Given the description of an element on the screen output the (x, y) to click on. 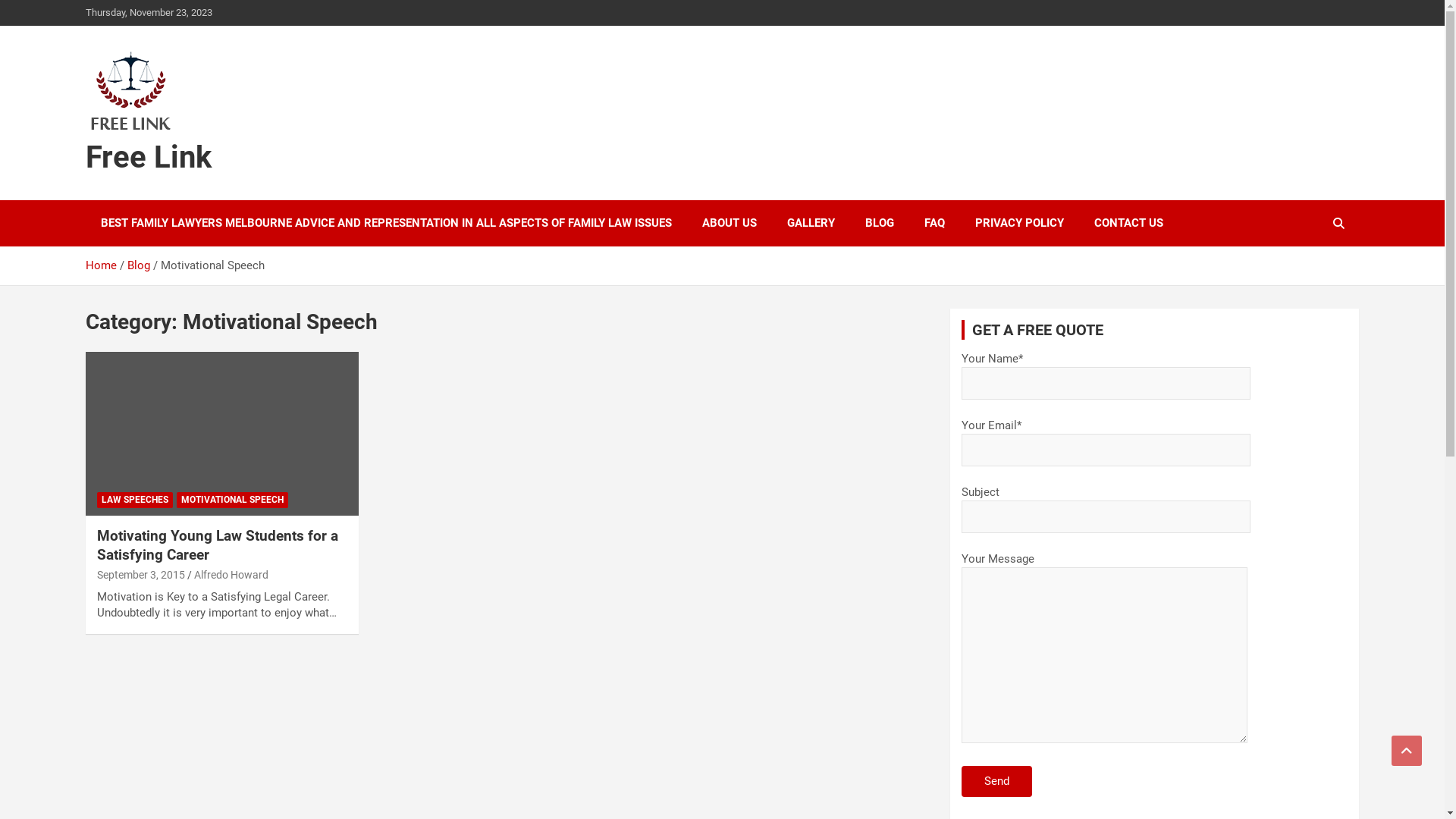
Home Element type: text (100, 265)
PRIVACY POLICY Element type: text (1019, 223)
Motivating Young Law Students for a Satisfying Career Element type: hover (220, 432)
Blog Element type: text (138, 265)
Free Link Element type: text (147, 157)
ABOUT US Element type: text (729, 223)
Alfredo Howard Element type: text (231, 574)
CONTACT US Element type: text (1127, 223)
Motivating Young Law Students for a Satisfying Career Element type: text (217, 545)
Send Element type: text (996, 781)
MOTIVATIONAL SPEECH Element type: text (232, 500)
September 3, 2015 Element type: text (141, 574)
Go to Top Element type: hover (1406, 750)
BLOG Element type: text (878, 223)
FAQ Element type: text (933, 223)
GALLERY Element type: text (810, 223)
LAW SPEECHES Element type: text (134, 500)
